Given the description of an element on the screen output the (x, y) to click on. 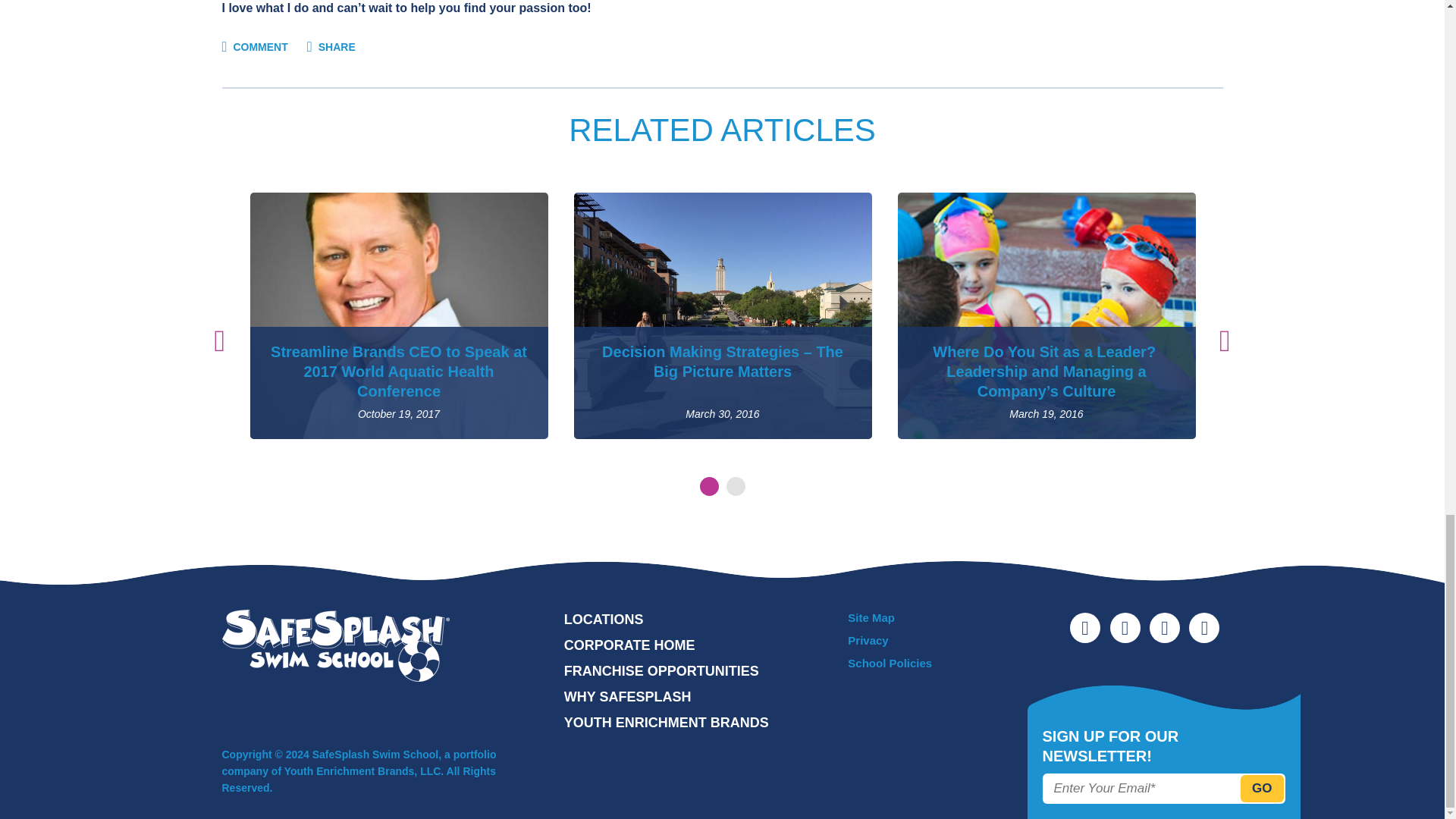
COMMENTCOMMENT (253, 46)
SHARESHARE (331, 46)
SS Logo  (334, 645)
GO (1261, 788)
